Given the description of an element on the screen output the (x, y) to click on. 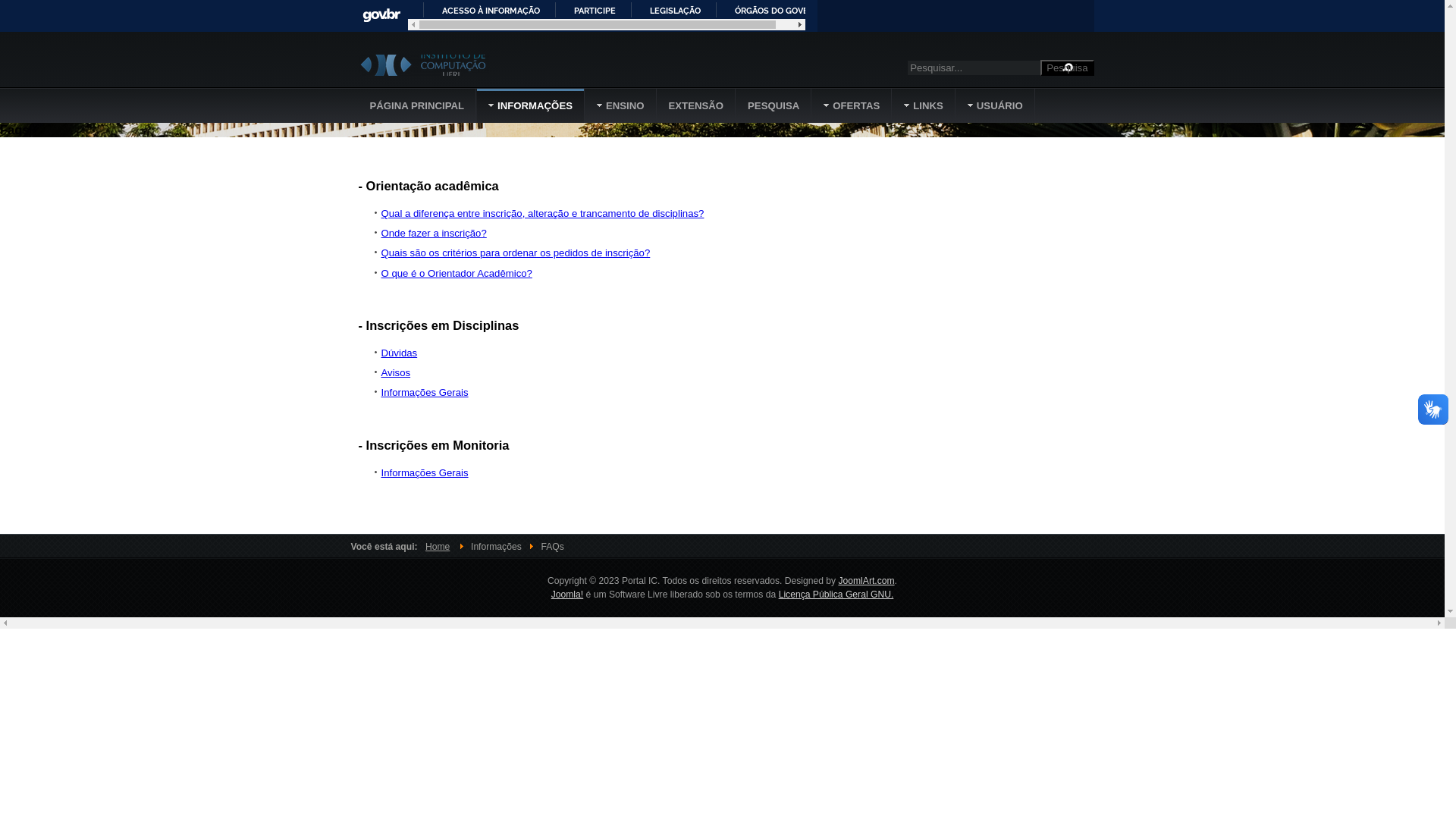
OFERTAS Element type: text (851, 105)
JoomlArt.com Element type: text (865, 580)
PESQUISA Element type: text (773, 105)
Home Element type: text (437, 546)
Pesquisa Element type: text (1066, 67)
LINKS Element type: text (923, 105)
ENSINO Element type: text (620, 105)
GOVBR Element type: text (381, 14)
PARTICIPE Element type: text (588, 9)
Portal IC Element type: hover (427, 64)
Joomla! Element type: text (567, 594)
Avisos Element type: text (395, 372)
